Given the description of an element on the screen output the (x, y) to click on. 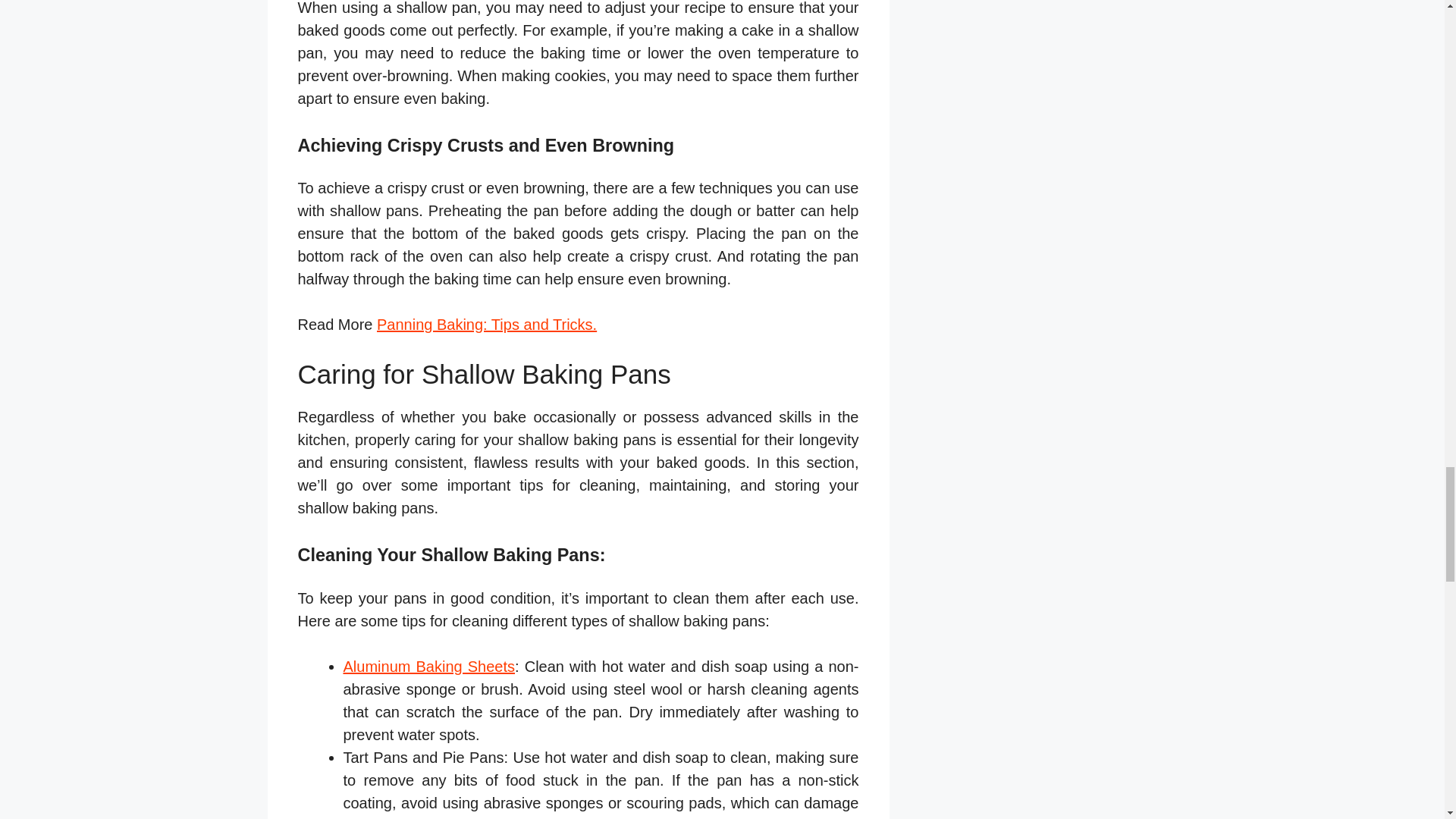
Aluminum Baking Sheets (428, 666)
Panning Baking: Tips and Tricks. (486, 324)
